Given the description of an element on the screen output the (x, y) to click on. 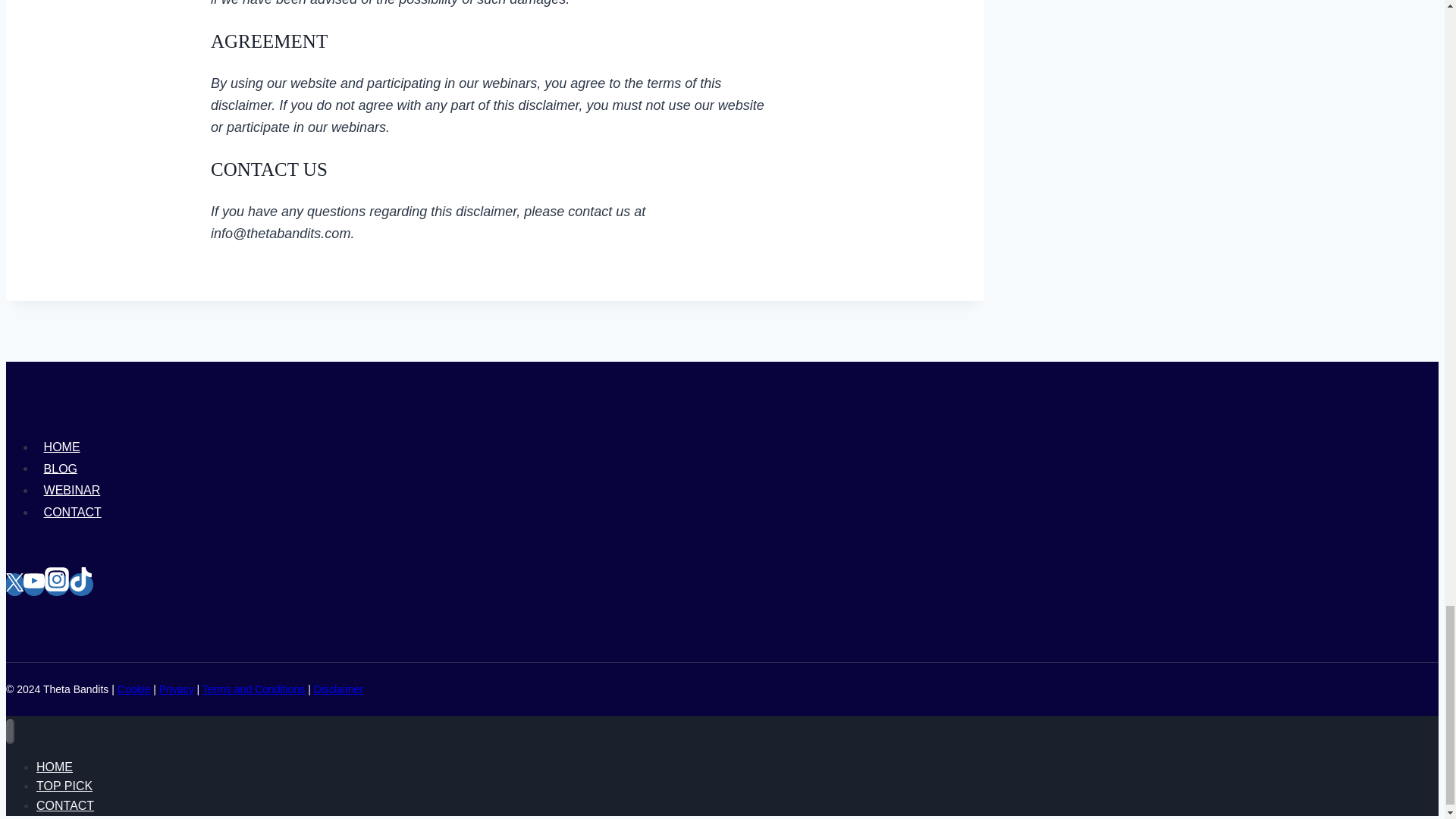
Terms and Conditions (253, 689)
Theta Bandit Privacy Policy (175, 689)
Disclaimer (338, 689)
YouTube (34, 580)
TOP PICK (64, 786)
TikTok (80, 579)
Instagram (56, 584)
HOME (61, 446)
Cookie (134, 689)
CONTACT (71, 512)
